Given the description of an element on the screen output the (x, y) to click on. 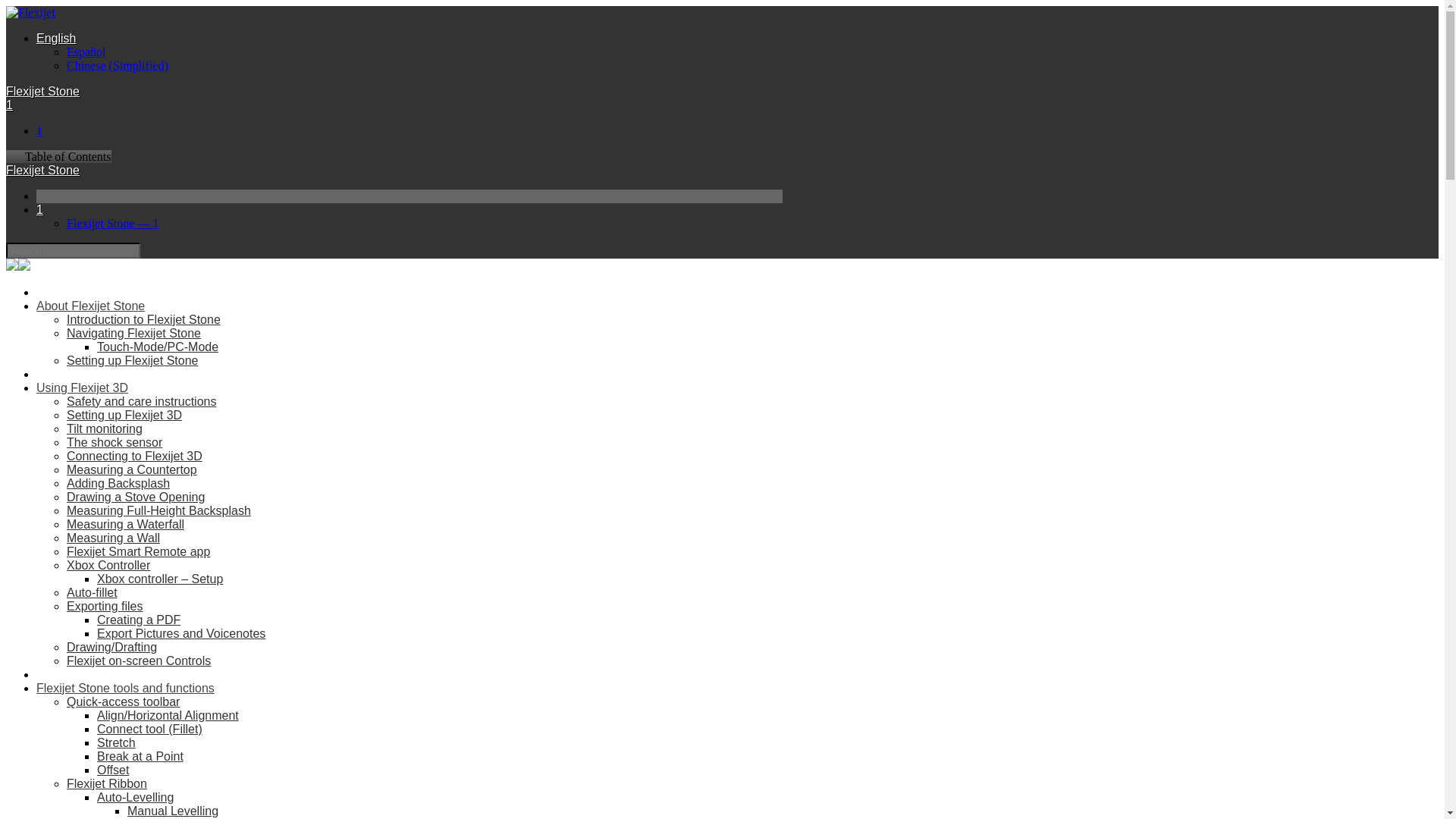
Flexijet Stone tools and functions (125, 687)
Measuring a Wall (113, 537)
Exporting files (104, 605)
Flexijet Stone (42, 91)
Creating a PDF (138, 619)
About Flexijet Stone (90, 305)
Table of Contents (58, 155)
Setting up Flexijet 3D (124, 414)
Flexijet on-screen Controls (138, 660)
Auto-fillet (91, 592)
Measuring a Countertop (131, 469)
Navigating Flexijet Stone (133, 332)
Safety and care instructions (140, 400)
English (55, 38)
Adding Backsplash (118, 482)
